Given the description of an element on the screen output the (x, y) to click on. 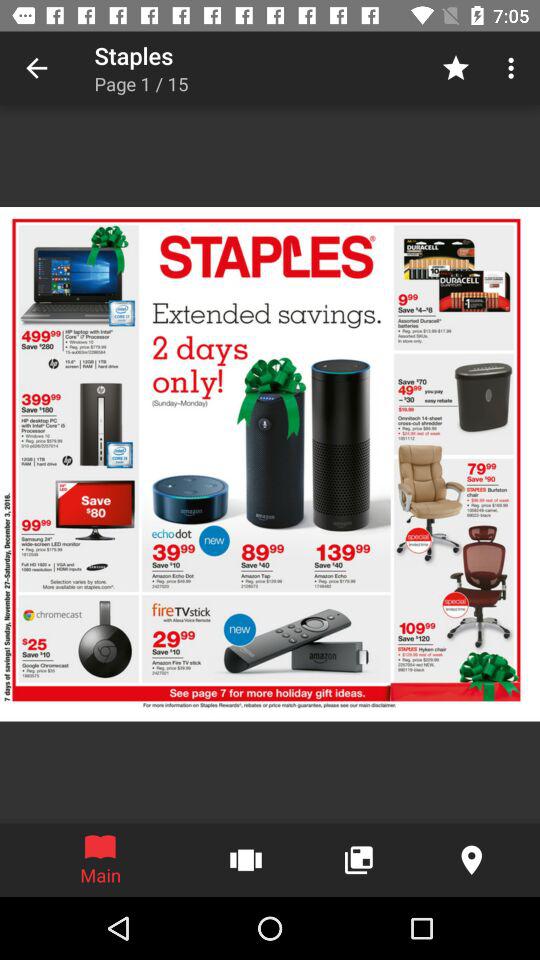
tap the icon to the left of staples icon (36, 68)
